Given the description of an element on the screen output the (x, y) to click on. 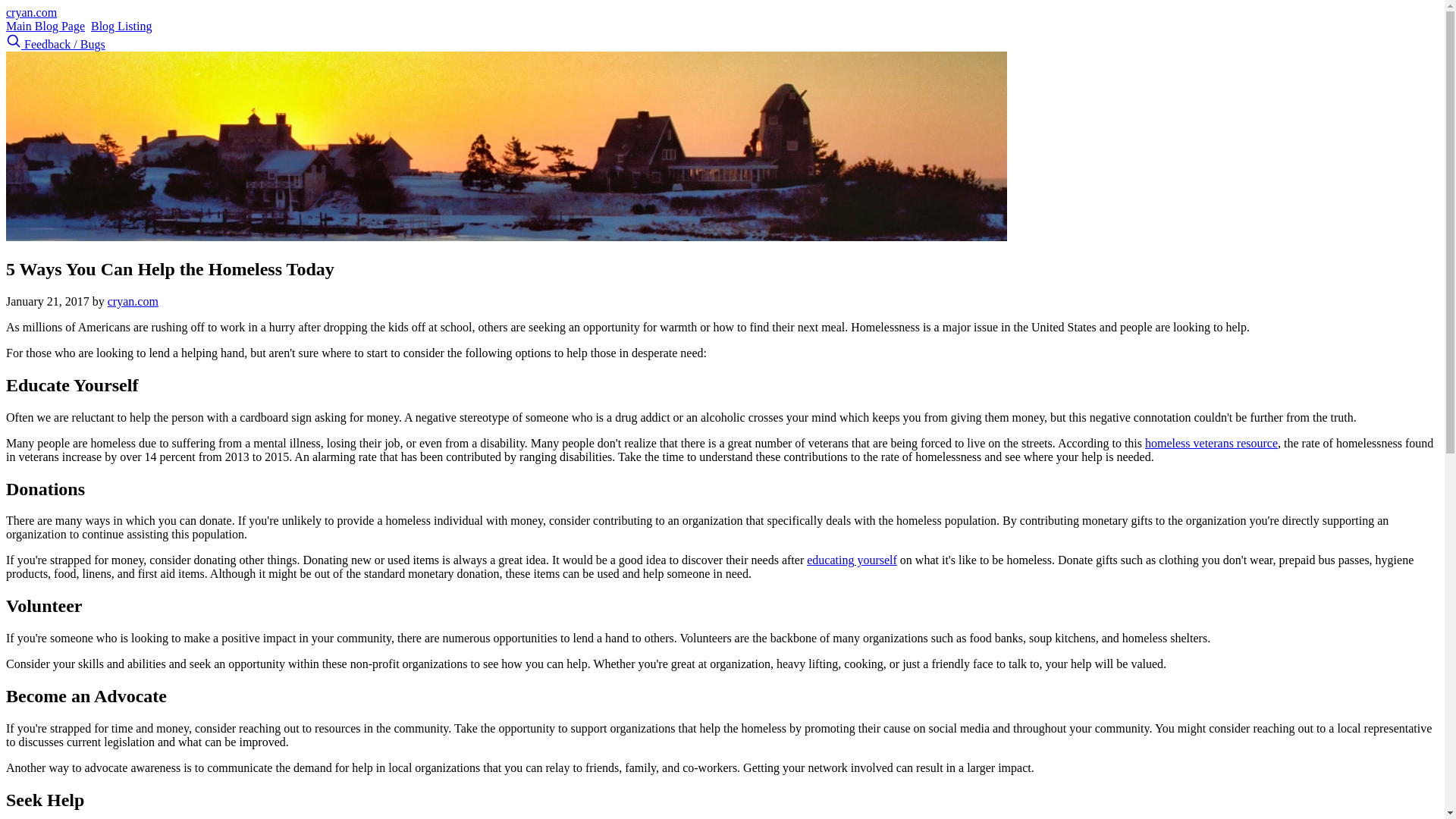
homeless veterans resource (1211, 442)
Blog Listing (120, 25)
educating yourself (851, 559)
Search (14, 43)
cryan.com (30, 11)
Search (13, 40)
cryan.com (132, 300)
Main Blog Page (44, 25)
